Given the description of an element on the screen output the (x, y) to click on. 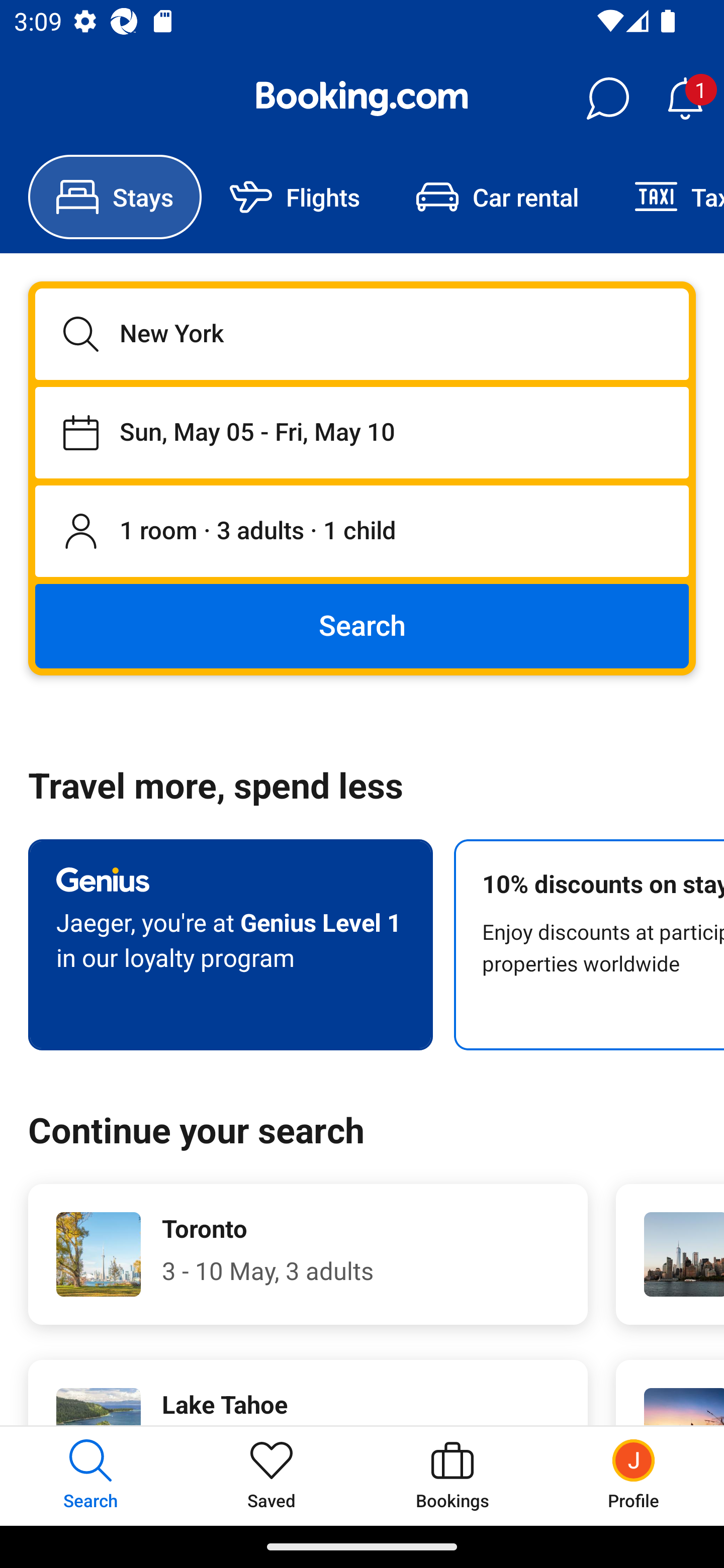
Messages (607, 98)
Notifications (685, 98)
Stays (114, 197)
Flights (294, 197)
Car rental (497, 197)
Taxi (665, 197)
New York (361, 333)
Staying from Sun, May 05 until Fri, May 10 (361, 432)
1 room, 3 adults, 1 child (361, 531)
Search (361, 625)
Toronto 3 - 10 May, 3 adults (307, 1253)
Saved (271, 1475)
Bookings (452, 1475)
Profile (633, 1475)
